Given the description of an element on the screen output the (x, y) to click on. 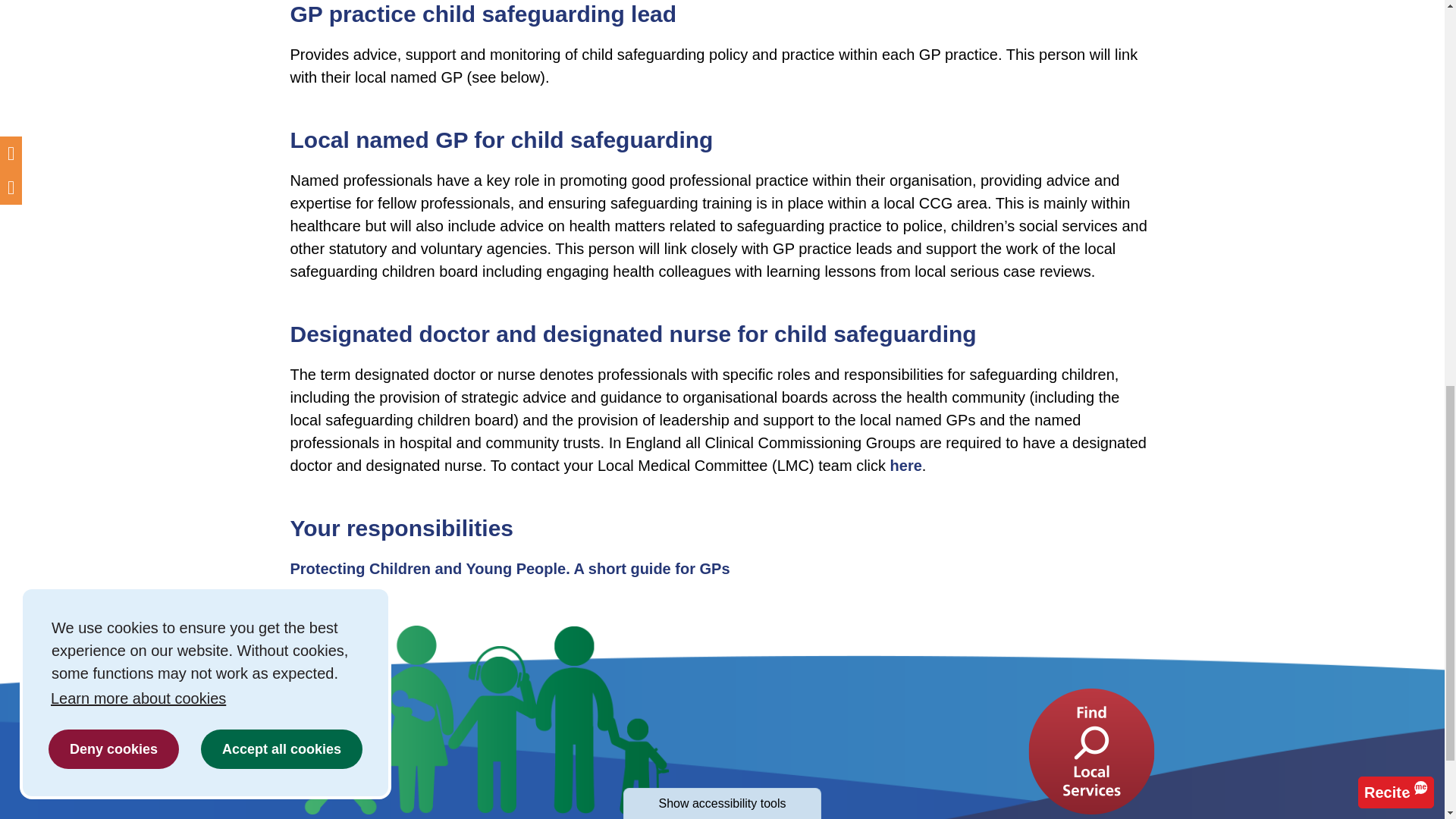
Find a local service (1090, 751)
